Given the description of an element on the screen output the (x, y) to click on. 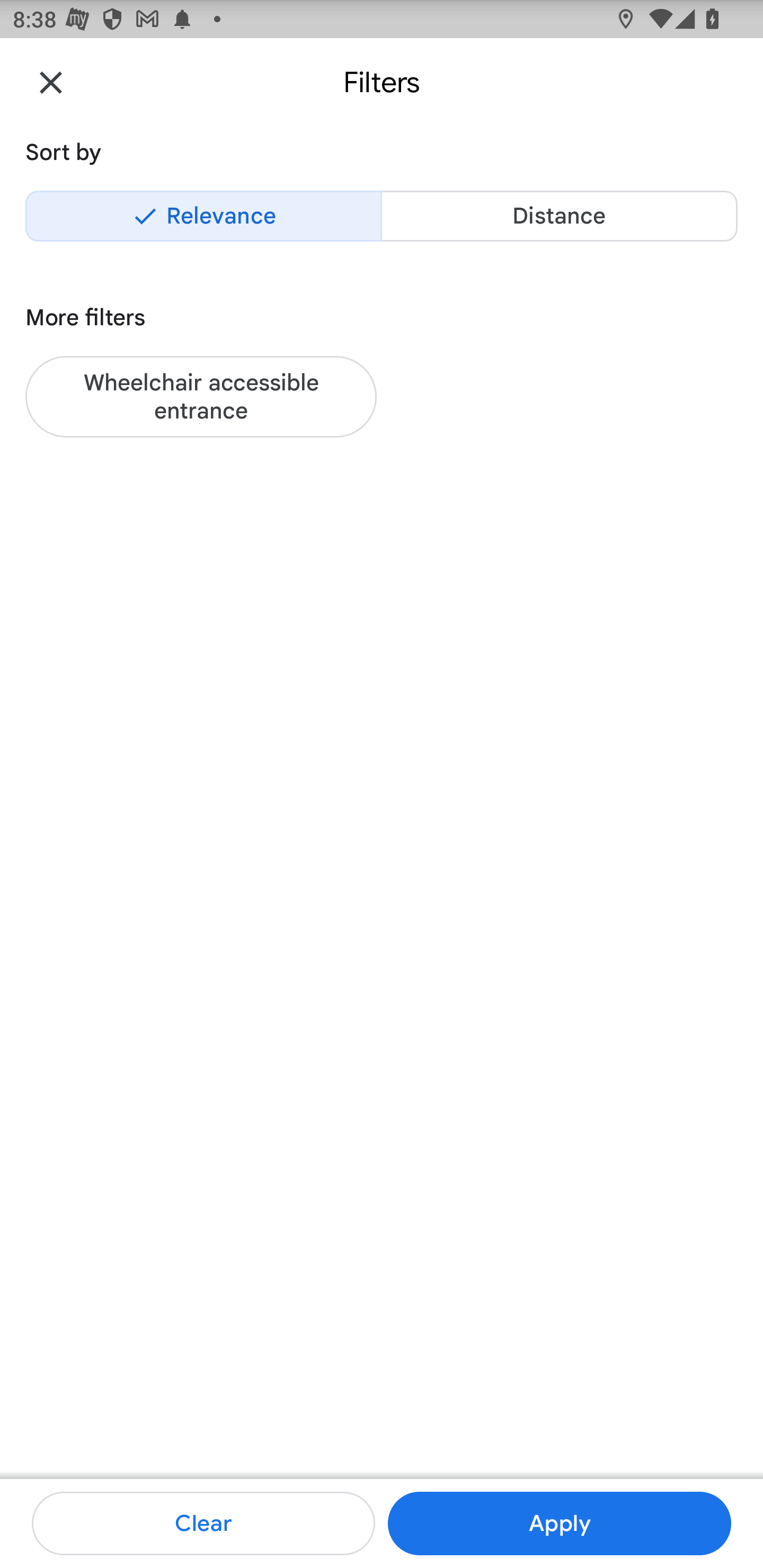
Close menu (50, 81)
Relevance (203, 216)
Distance (558, 216)
Wheelchair accessible entrance (200, 396)
Clear Clear Clear (203, 1522)
Apply Apply Apply (558, 1522)
